Given the description of an element on the screen output the (x, y) to click on. 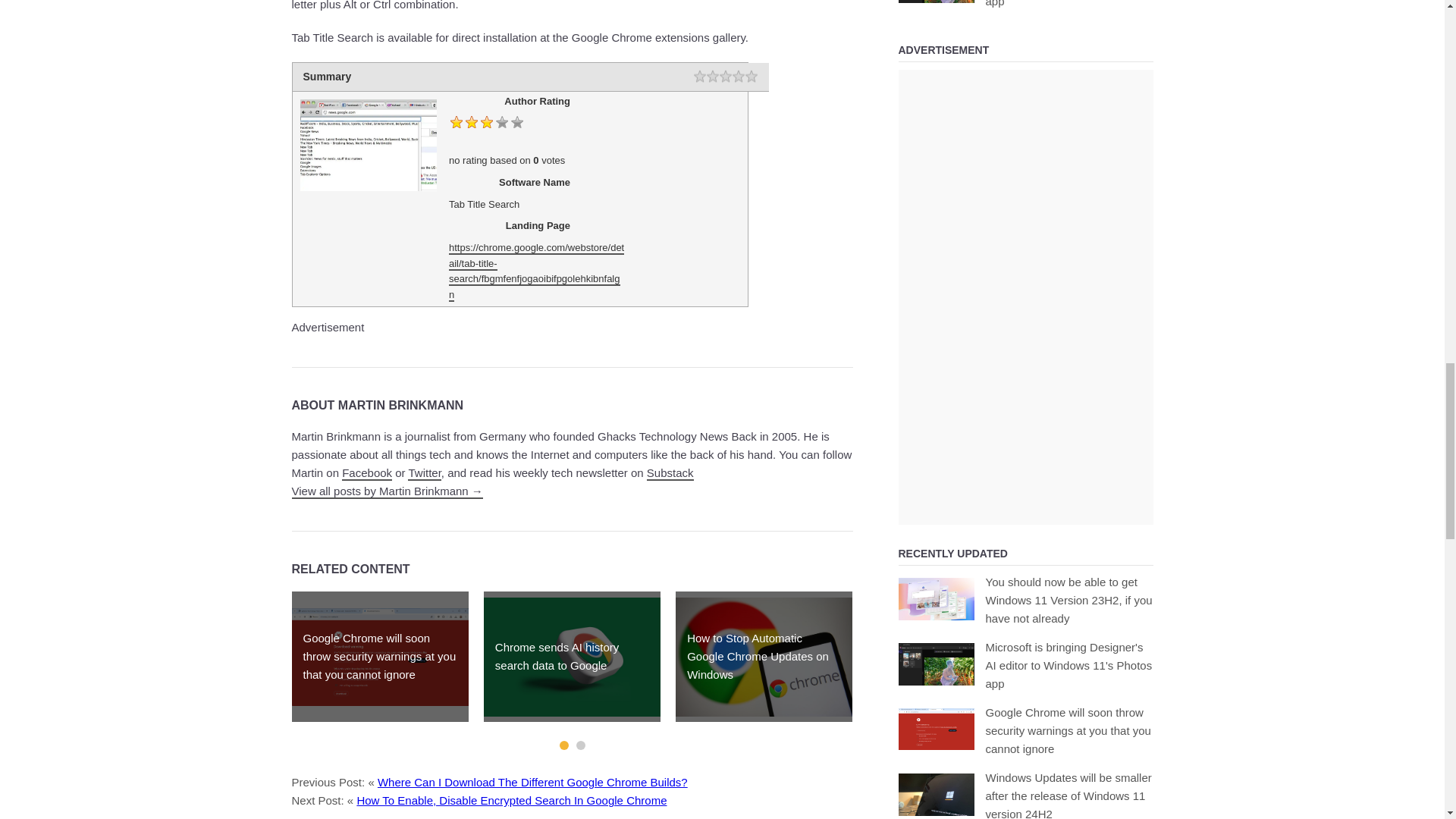
2 (712, 76)
Cancel Rating (687, 76)
5 (750, 76)
3 (724, 76)
1 (698, 76)
4 (738, 76)
